Given the description of an element on the screen output the (x, y) to click on. 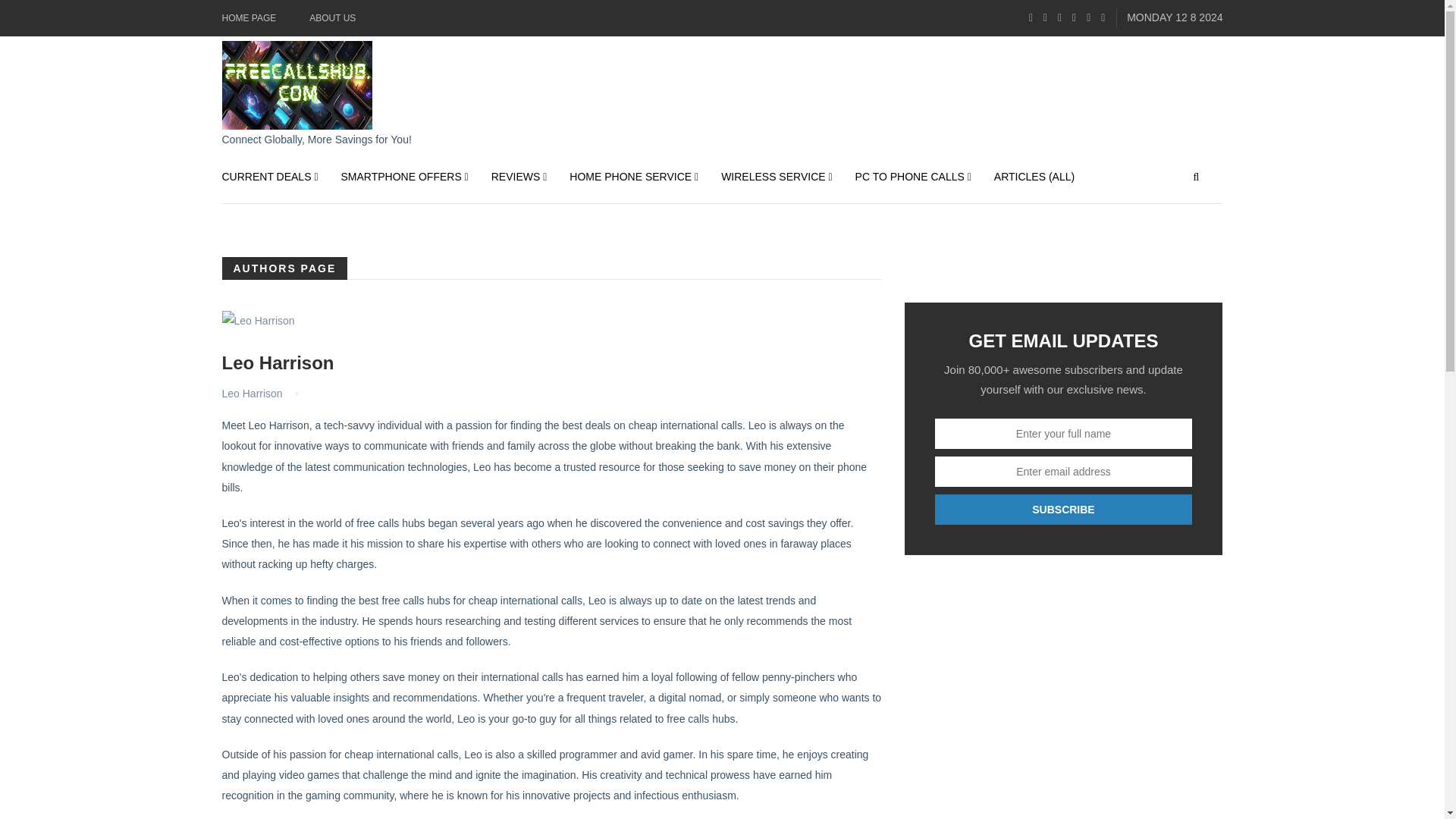
Subscribe (1063, 509)
ABOUT US (331, 18)
CURRENT DEALS (275, 176)
REVIEWS (519, 176)
SMARTPHONE OFFERS (405, 176)
HOME PAGE (248, 18)
